Given the description of an element on the screen output the (x, y) to click on. 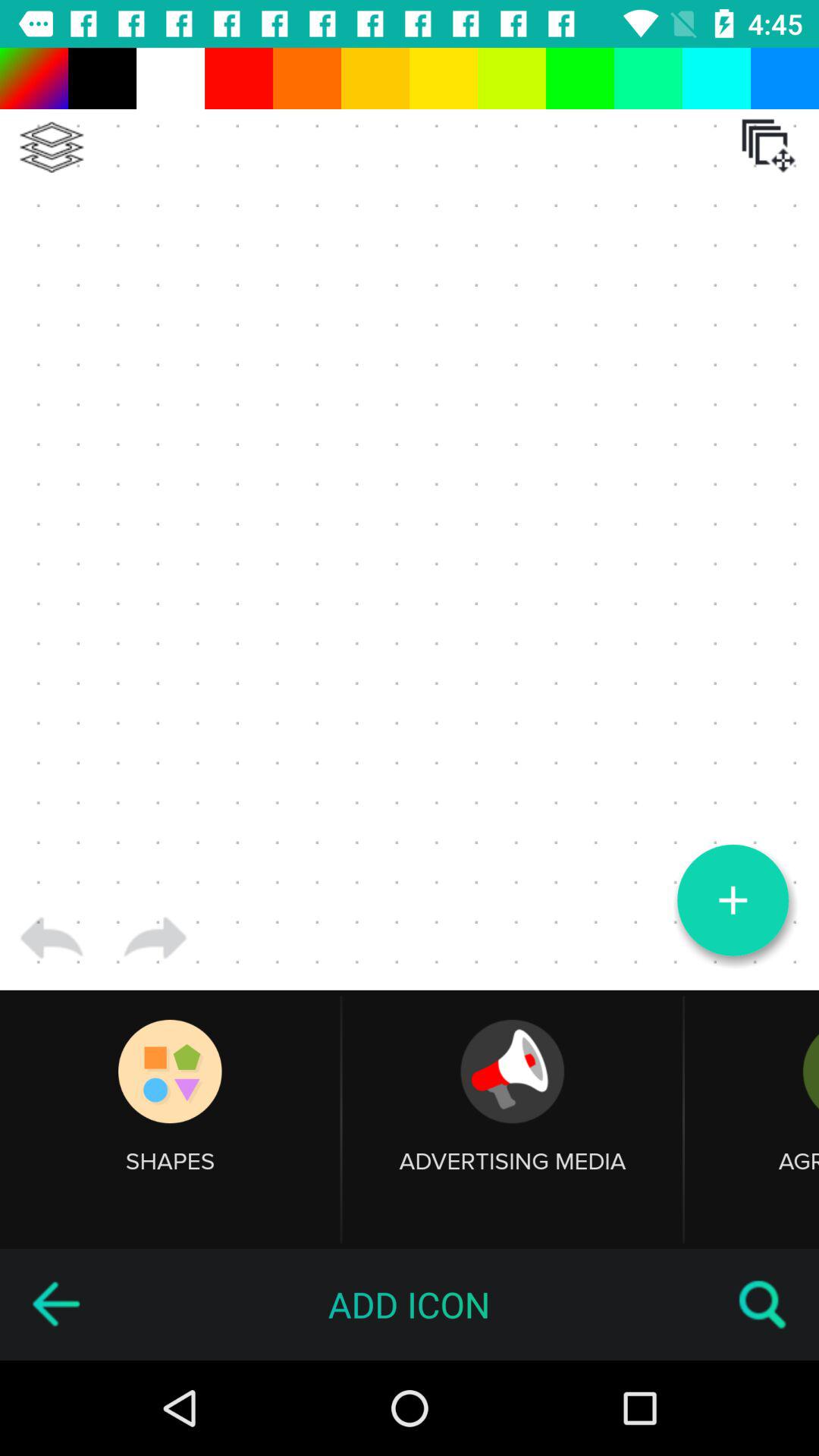
turn off item above shapes item (51, 938)
